Given the description of an element on the screen output the (x, y) to click on. 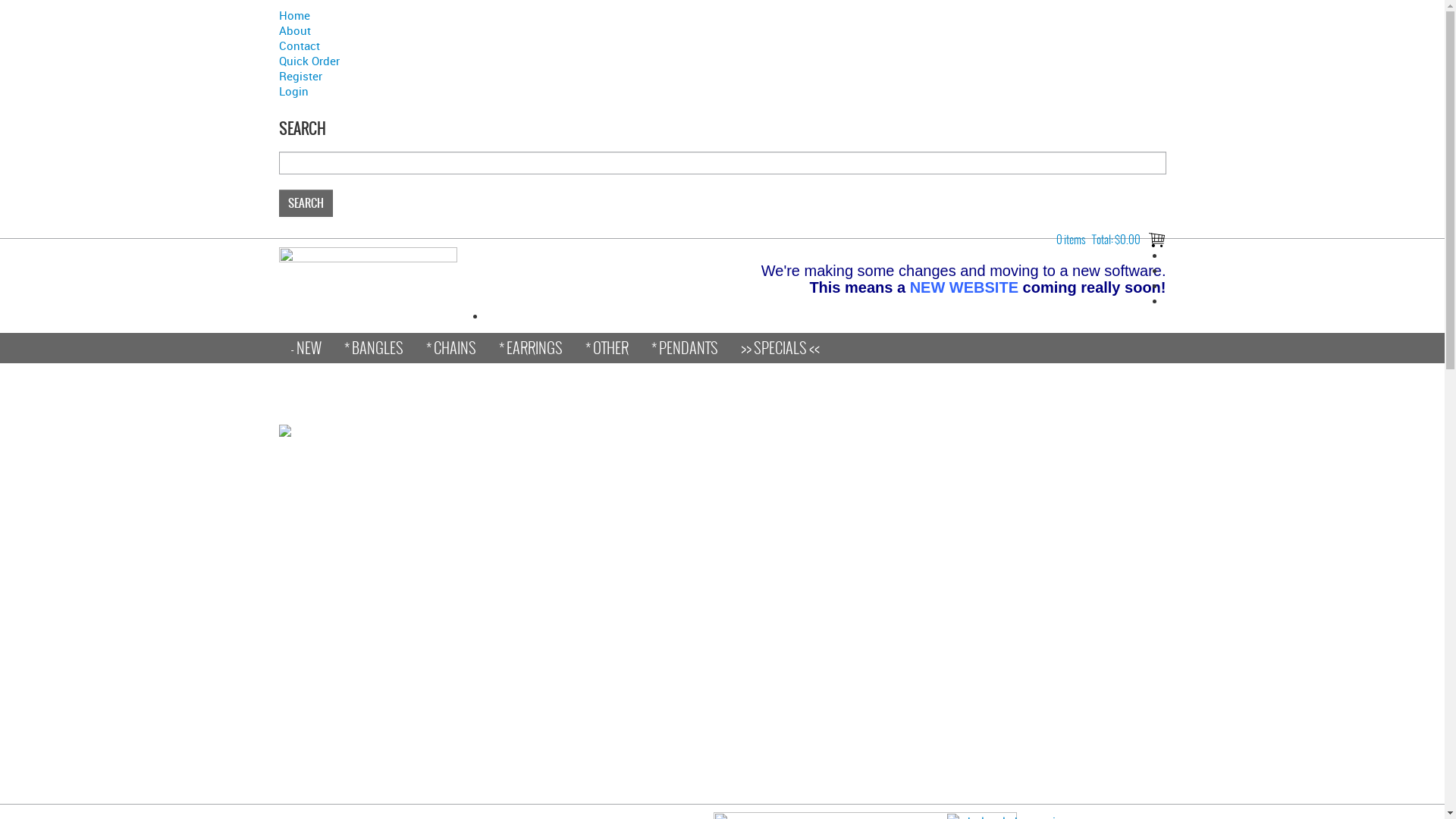
Quick Order Element type: text (722, 60)
Total: $0.00 Element type: text (1116, 239)
* EARRINGS Element type: text (529, 347)
- NEW Element type: text (305, 347)
Register Element type: text (722, 75)
Search Element type: text (305, 202)
About Element type: text (722, 29)
* PENDANTS Element type: text (684, 347)
Home Element type: text (722, 14)
Login Element type: text (722, 90)
* BANGLES Element type: text (373, 347)
>> SPECIALS << Element type: text (780, 347)
0 items Element type: text (1070, 239)
* OTHER Element type: text (606, 347)
Contact Element type: text (722, 45)
* CHAINS Element type: text (450, 347)
